Given the description of an element on the screen output the (x, y) to click on. 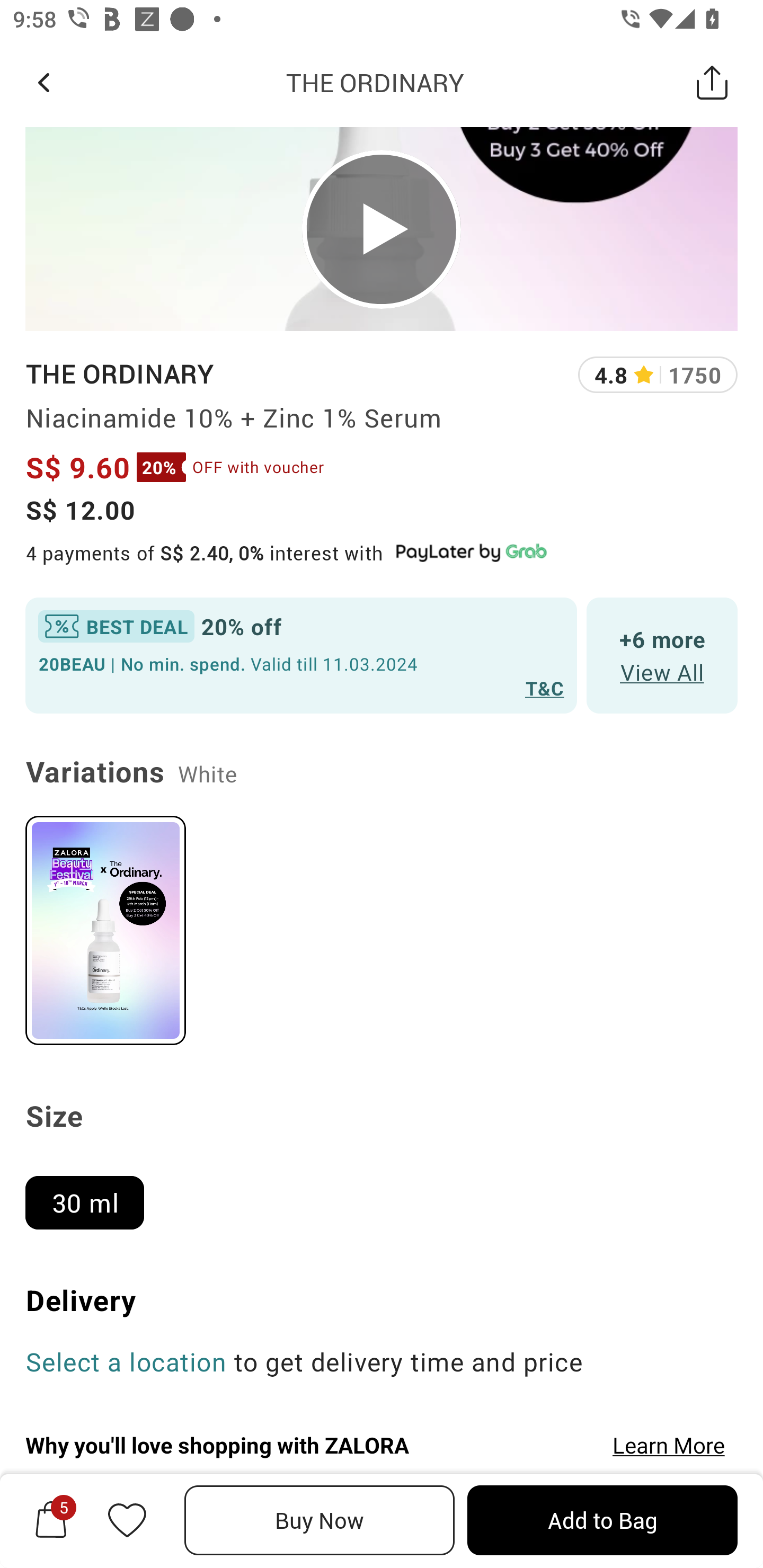
THE ORDINARY (375, 82)
Share this Product (711, 82)
THE ORDINARY (119, 372)
4.8 1750 (657, 374)
+6 more
View All (661, 655)
T&C (544, 687)
30 ml (92, 1194)
Learn More (668, 1444)
Buy Now (319, 1519)
Add to Bag (601, 1519)
5 (50, 1520)
